Given the description of an element on the screen output the (x, y) to click on. 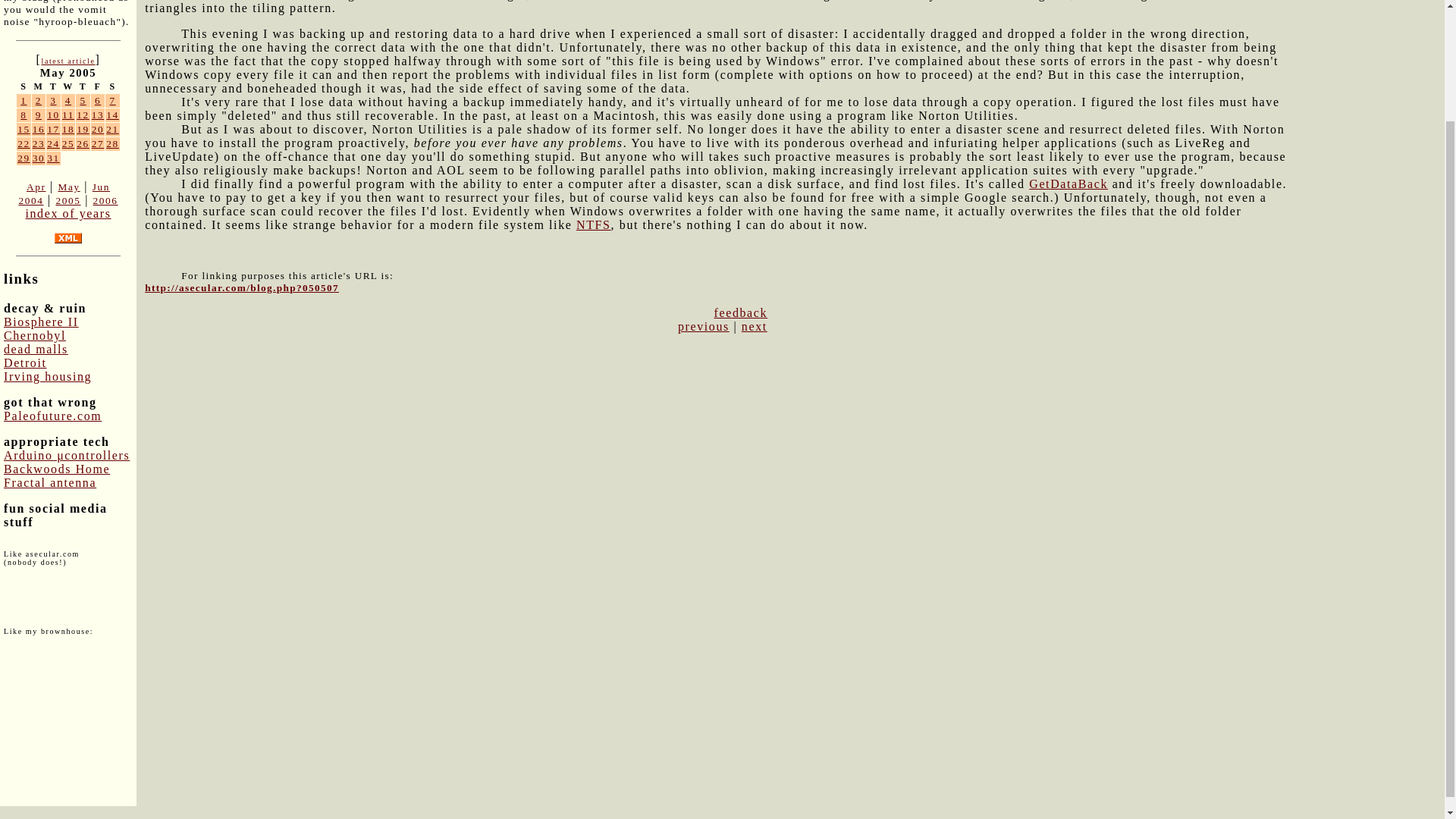
20 (97, 129)
26 (82, 143)
11 (68, 114)
15 (23, 129)
27 (97, 143)
2006 (105, 200)
Apr (36, 186)
16 (38, 129)
14 (112, 114)
13 (97, 114)
